Given the description of an element on the screen output the (x, y) to click on. 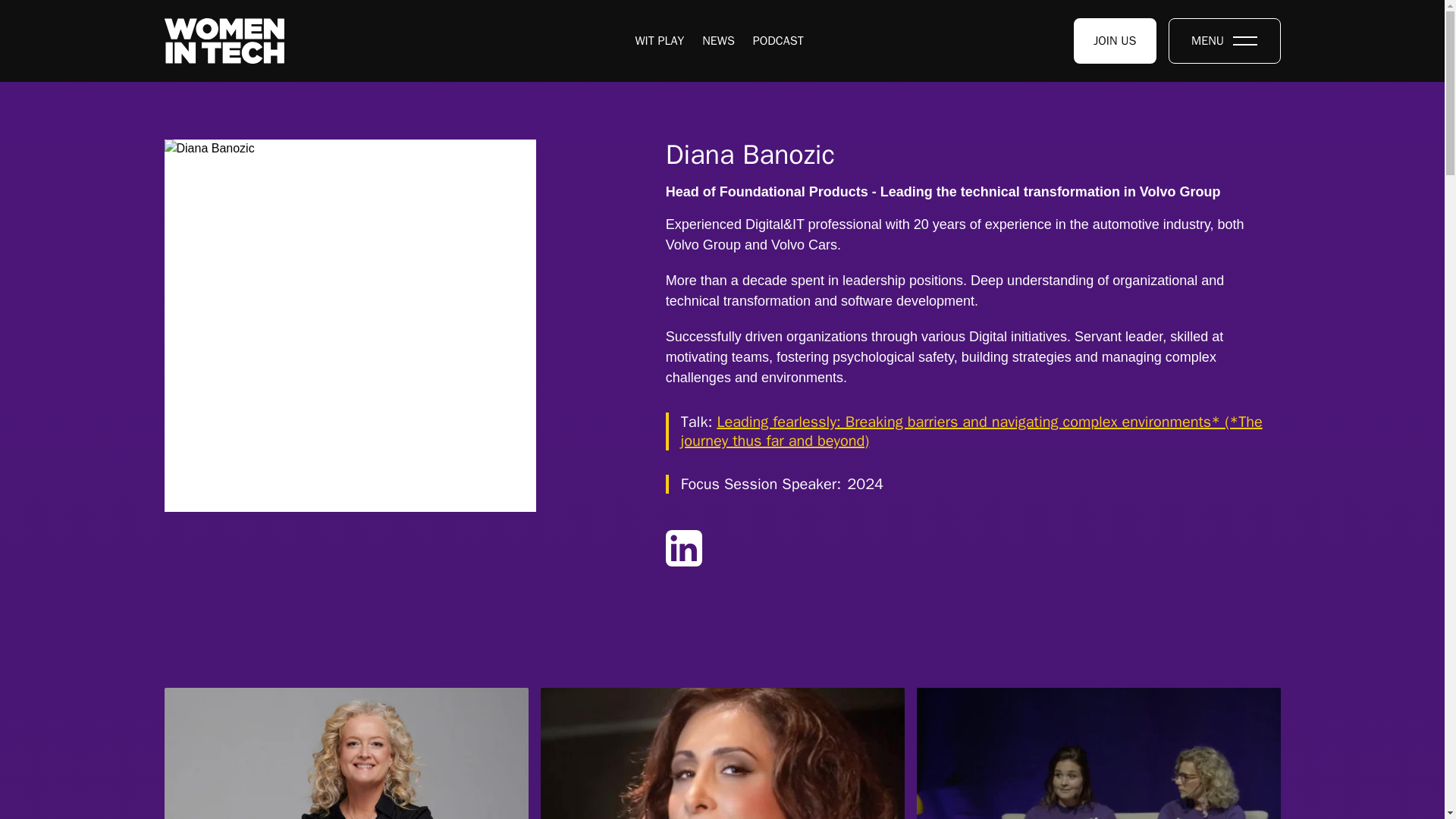
Mahan Moin (722, 753)
PODCAST (777, 40)
Interview Stage Part 1 (1097, 753)
MENU (1223, 40)
JOIN US (345, 753)
WIT PLAY (1115, 40)
NEWS (659, 40)
